Given the description of an element on the screen output the (x, y) to click on. 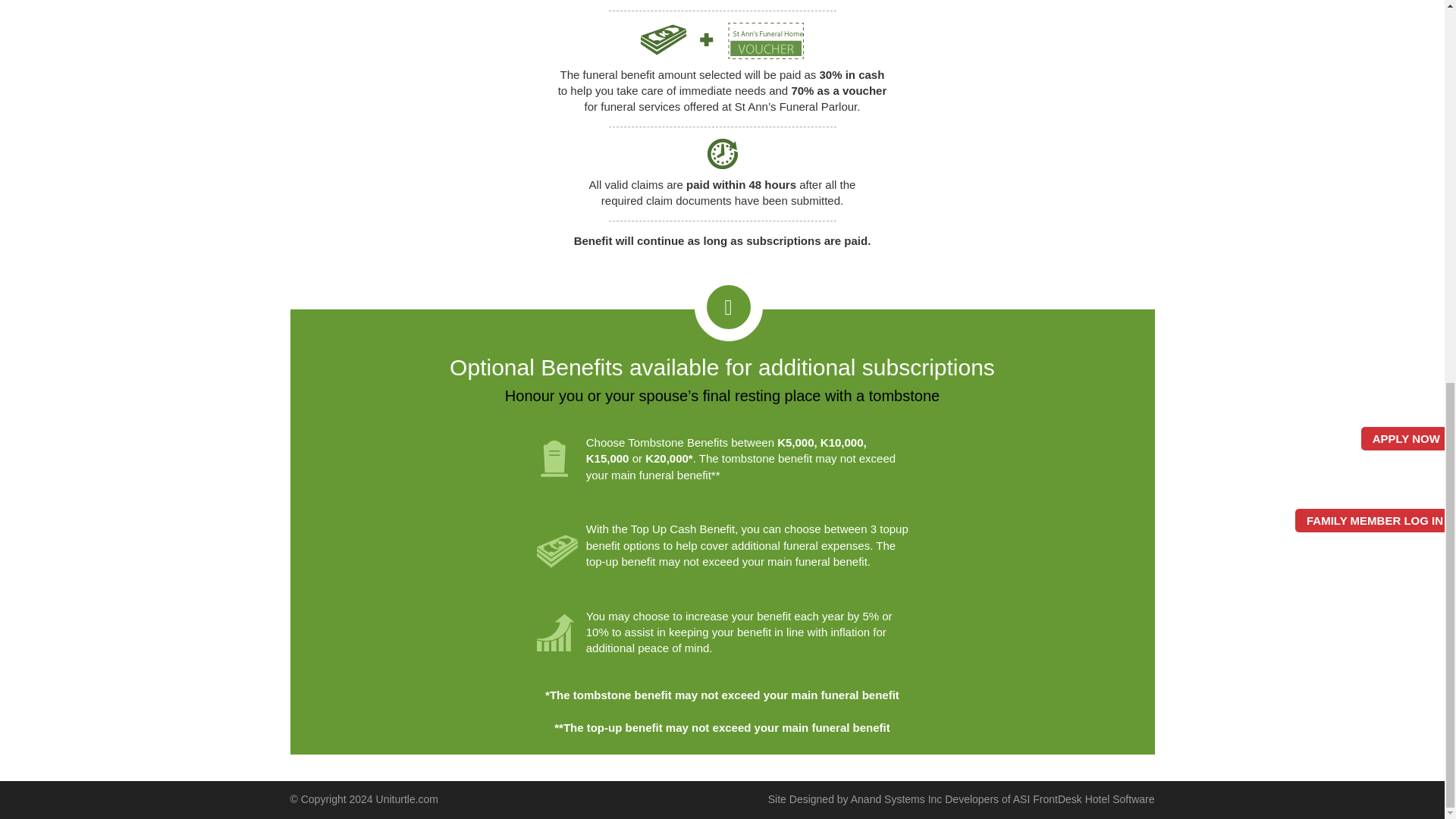
Anand Systems Inc (896, 799)
Uniturtle.com (406, 799)
